Given the description of an element on the screen output the (x, y) to click on. 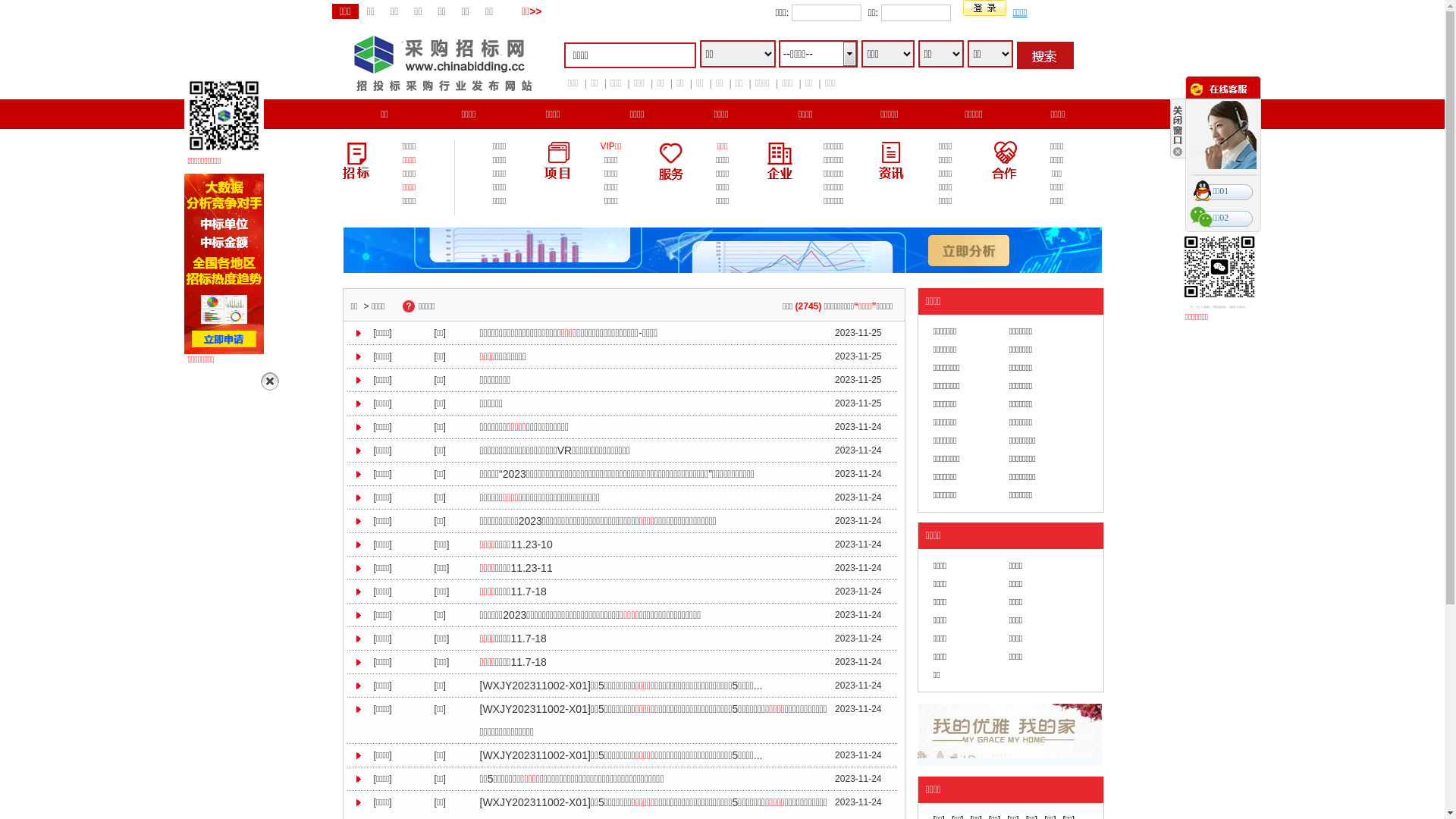
  Element type: text (1044, 54)
